Given the description of an element on the screen output the (x, y) to click on. 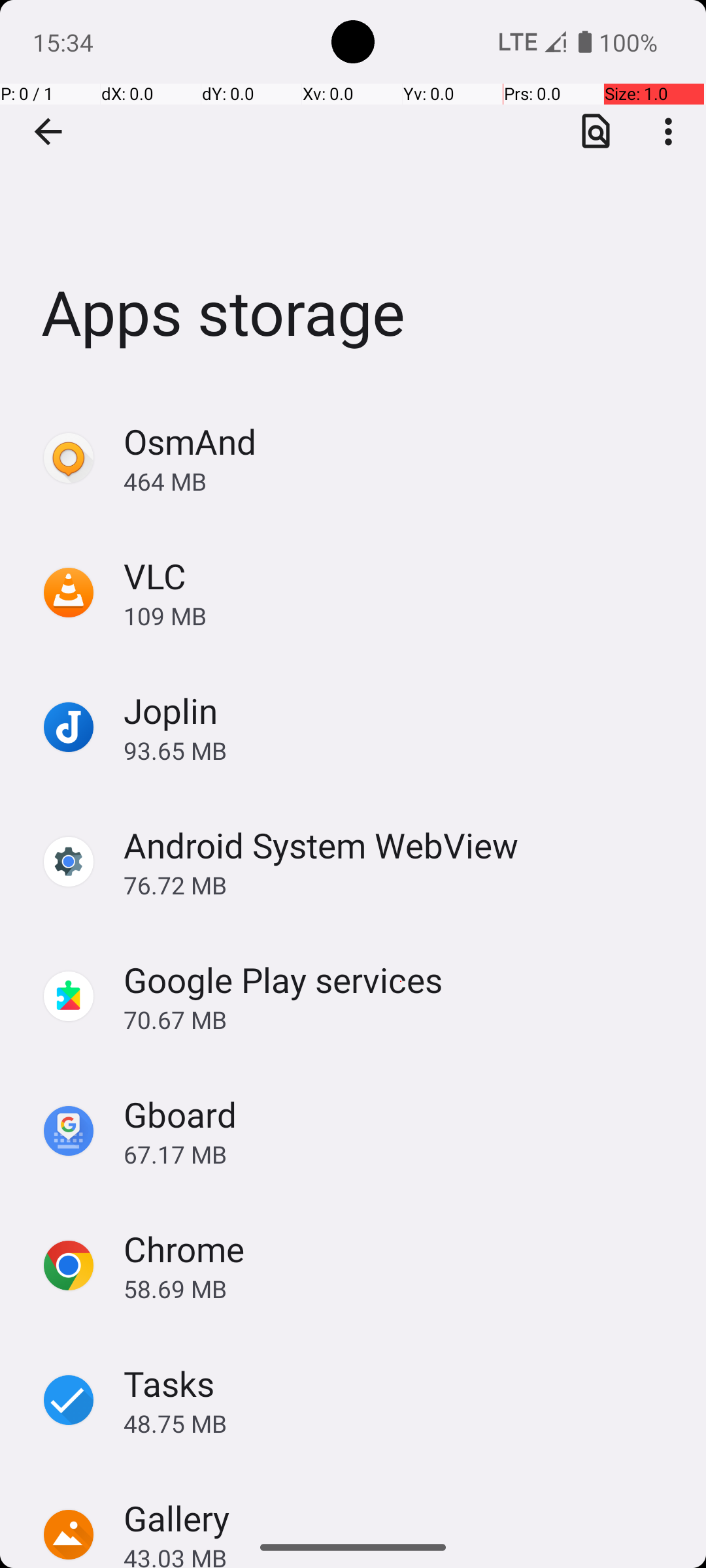
Apps storage Element type: android.widget.FrameLayout (353, 195)
464 MB Element type: android.widget.TextView (400, 480)
109 MB Element type: android.widget.TextView (400, 615)
93.65 MB Element type: android.widget.TextView (400, 750)
76.72 MB Element type: android.widget.TextView (400, 884)
70.67 MB Element type: android.widget.TextView (400, 1019)
Gboard Element type: android.widget.TextView (179, 1114)
67.17 MB Element type: android.widget.TextView (400, 1153)
58.69 MB Element type: android.widget.TextView (400, 1288)
48.75 MB Element type: android.widget.TextView (400, 1422)
